Given the description of an element on the screen output the (x, y) to click on. 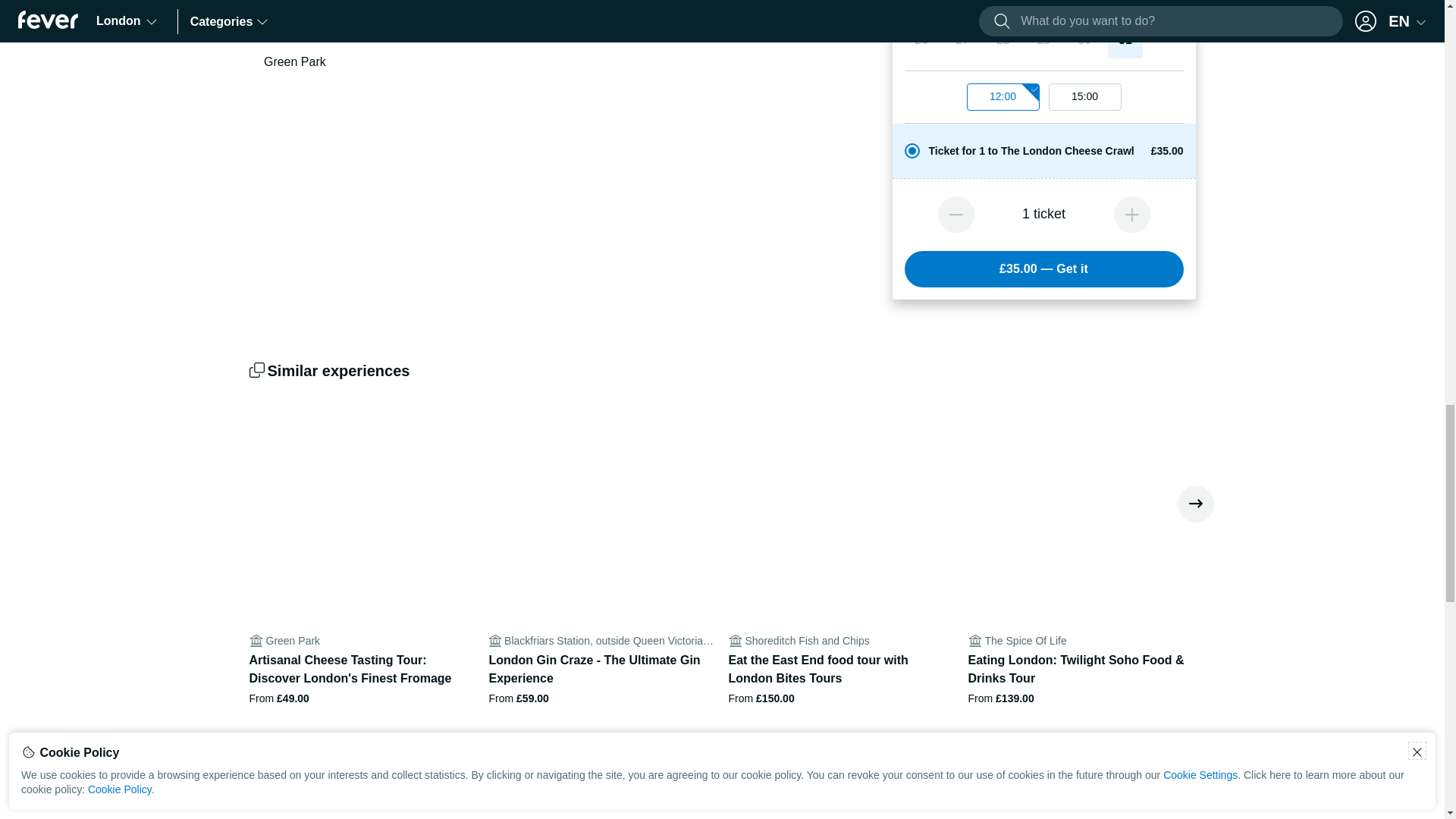
PULSE: Beyond Delight - Borough Yards (841, 800)
The Gunpowder Plot Experience - Tower Vaults (362, 800)
